Given the description of an element on the screen output the (x, y) to click on. 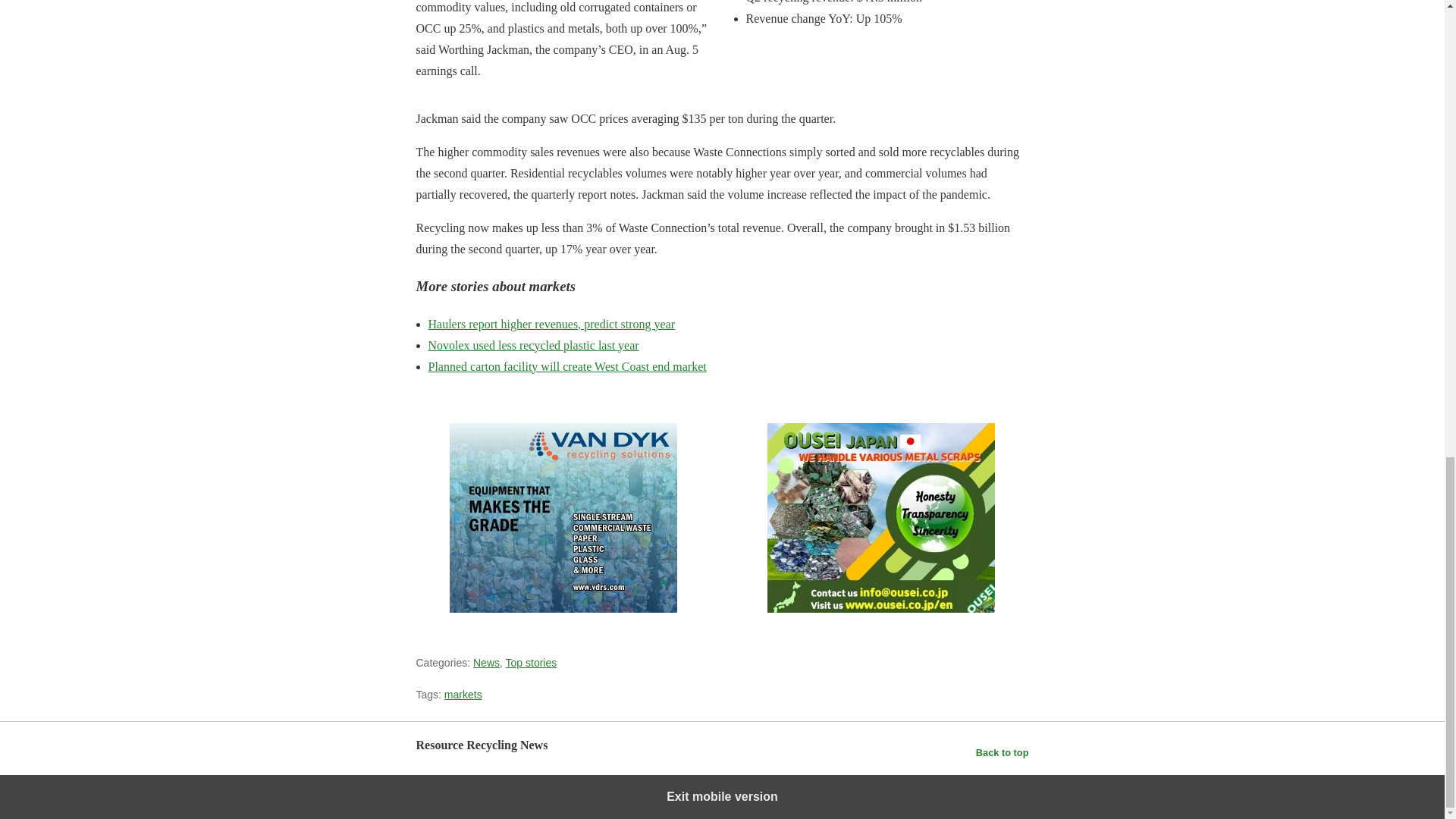
Top stories (531, 662)
News (486, 662)
Van Dyk 300x250 general cube RR 03-01-21 (563, 517)
markets (462, 694)
Haulers report higher revenues, predict strong year (551, 323)
Back to top (1002, 752)
Planned carton facility will create West Coast end market (567, 366)
Ousei - 300x250 (880, 517)
Novolex used less recycled plastic last year (533, 345)
